Given the description of an element on the screen output the (x, y) to click on. 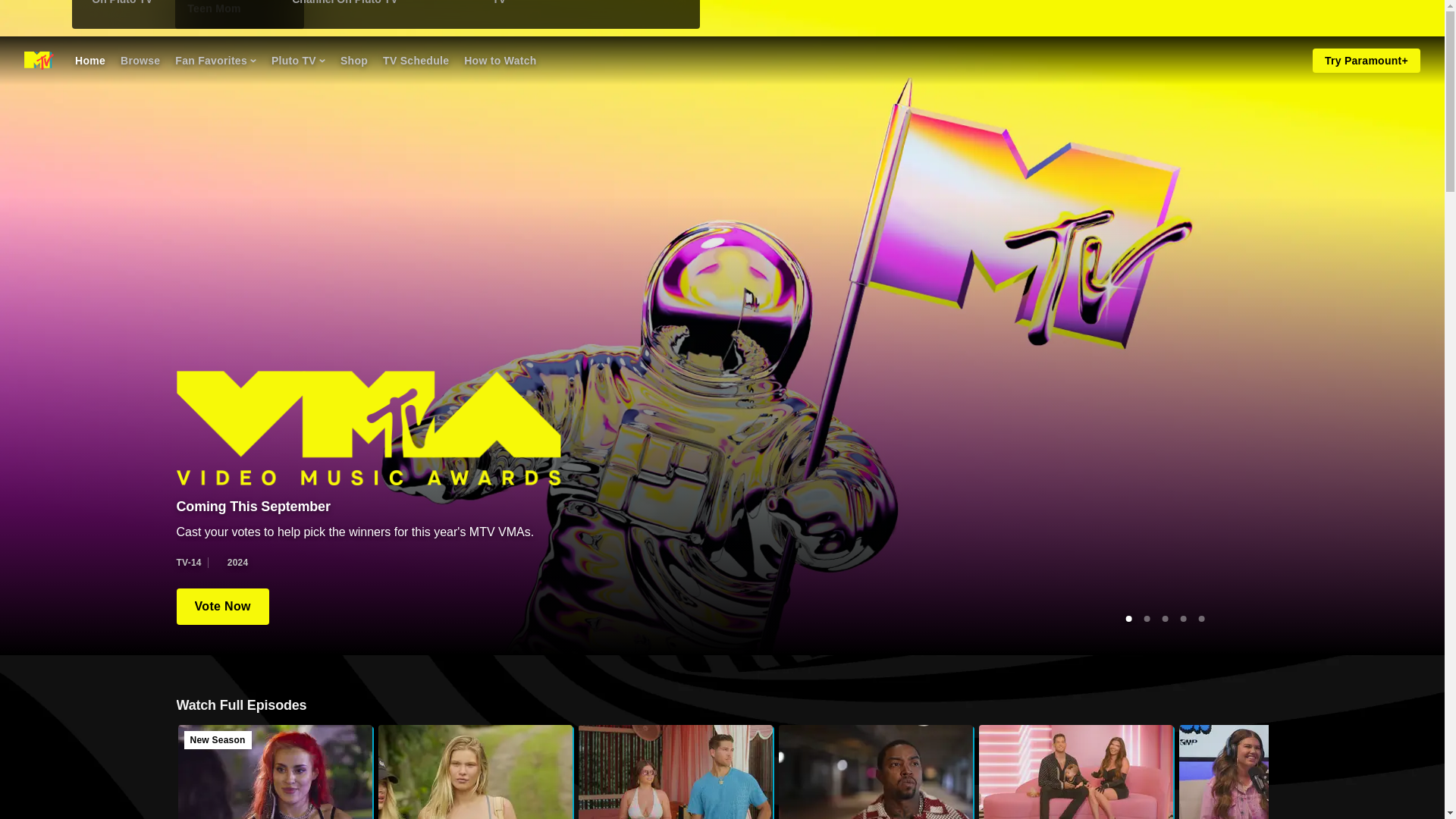
How to Watch (499, 60)
Pluto TV (297, 60)
Watch MTV's The Challenge Channel On Pluto TV (382, 6)
Fan Favorites (674, 771)
Teen Mom (215, 60)
Chevron-icon (213, 7)
